Given the description of an element on the screen output the (x, y) to click on. 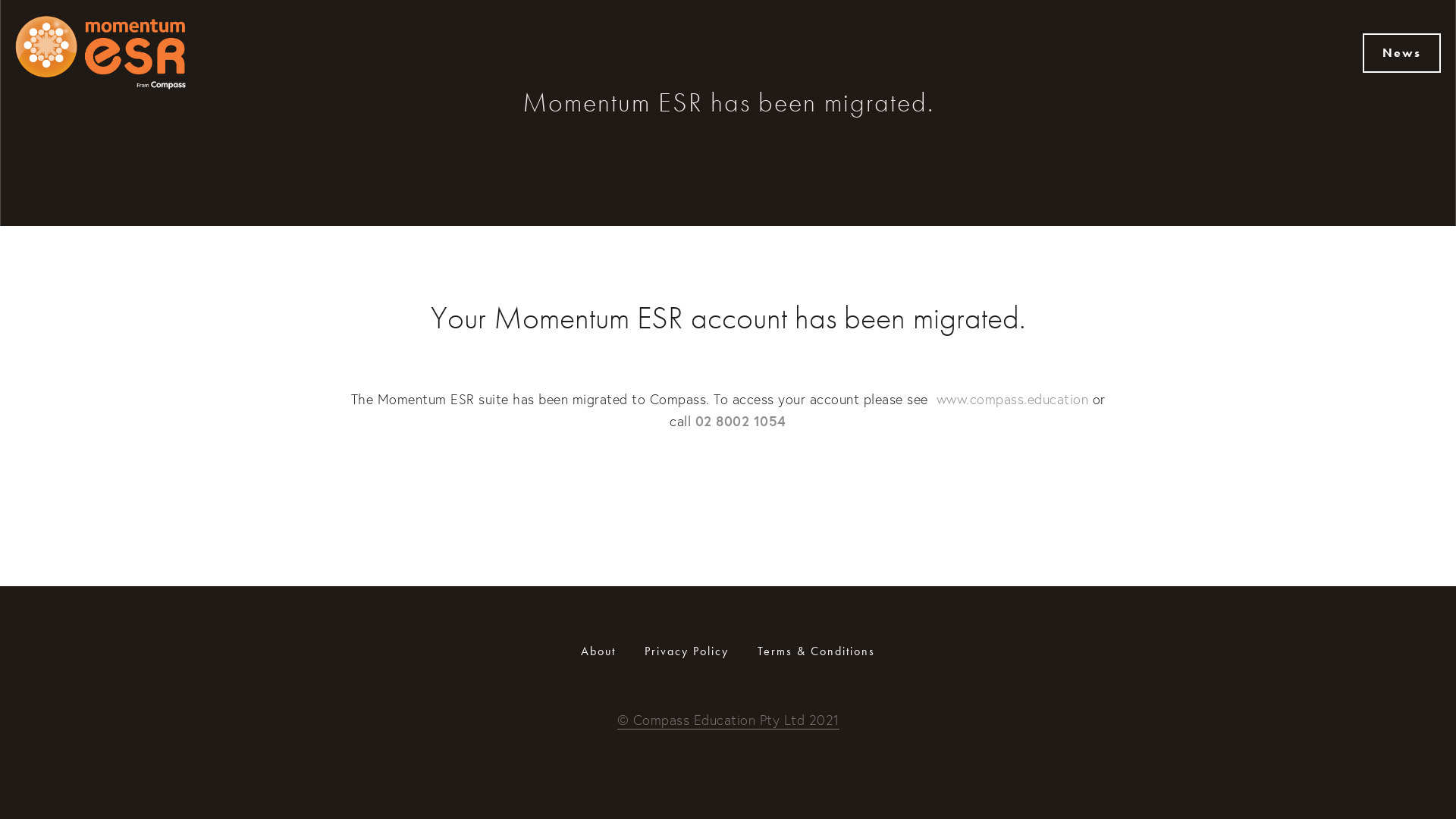
Terms & Conditions Element type: text (810, 651)
Privacy Policy Element type: text (686, 651)
www.compass.education  Element type: text (1013, 398)
About Element type: text (603, 651)
02 8002 1054 Element type: text (740, 420)
News Element type: text (1401, 52)
